Given the description of an element on the screen output the (x, y) to click on. 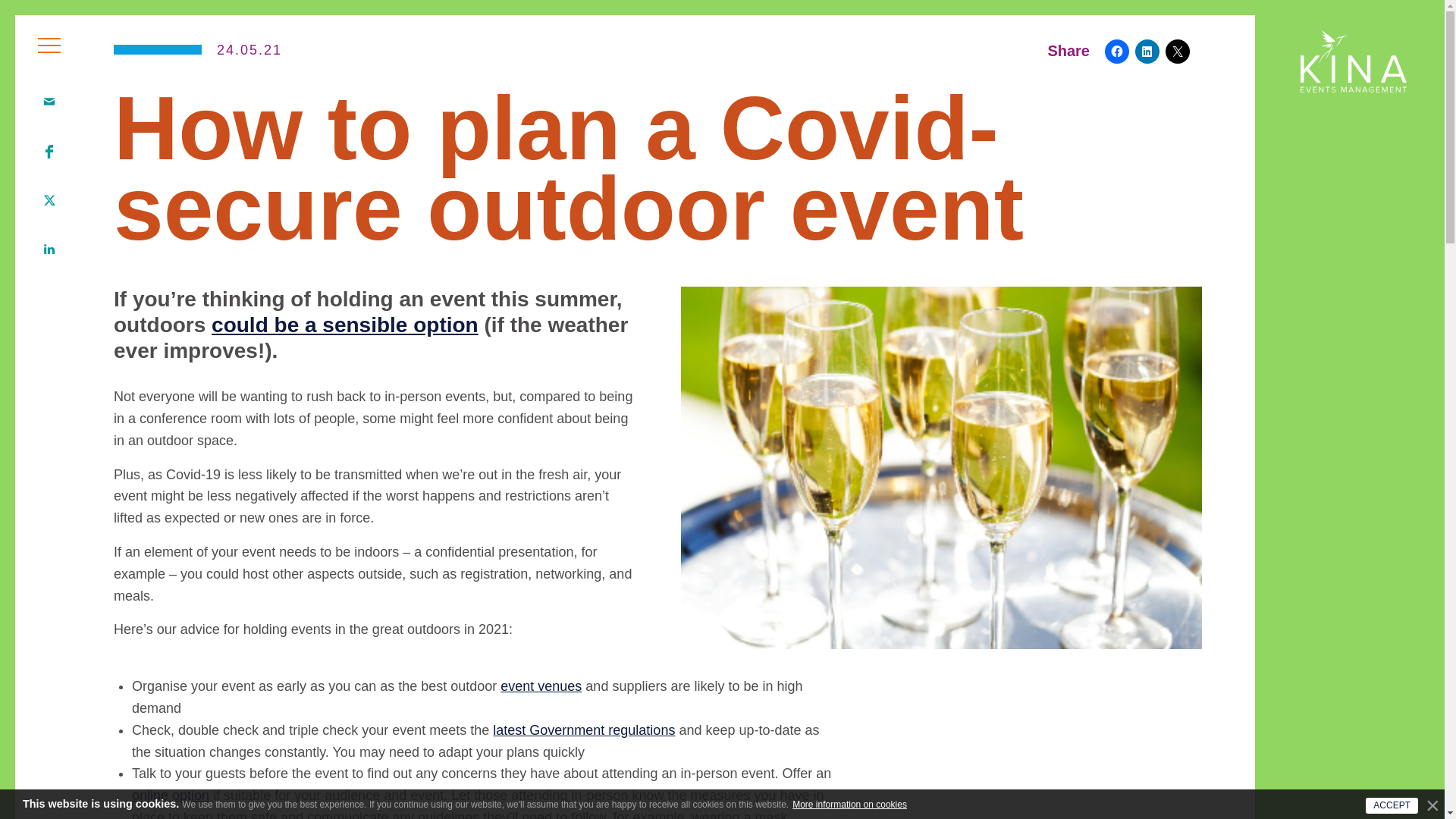
Click to share on X (1177, 51)
online option (170, 795)
latest Government regulations (584, 729)
could be a sensible option (345, 324)
event venues (540, 685)
Click to share on Facebook (1117, 51)
Click to share on LinkedIn (1146, 51)
